Given the description of an element on the screen output the (x, y) to click on. 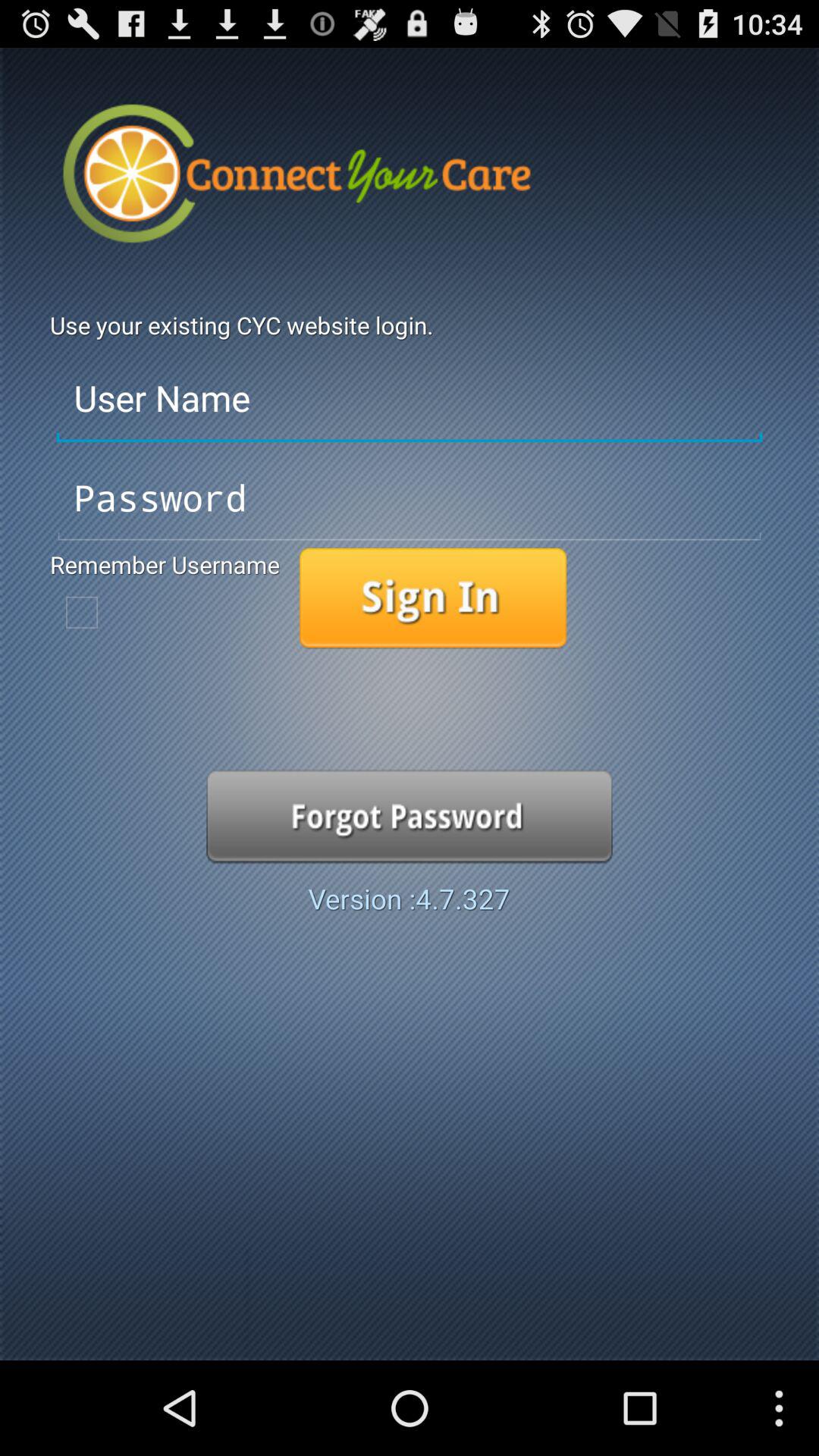
enter user name (409, 398)
